Given the description of an element on the screen output the (x, y) to click on. 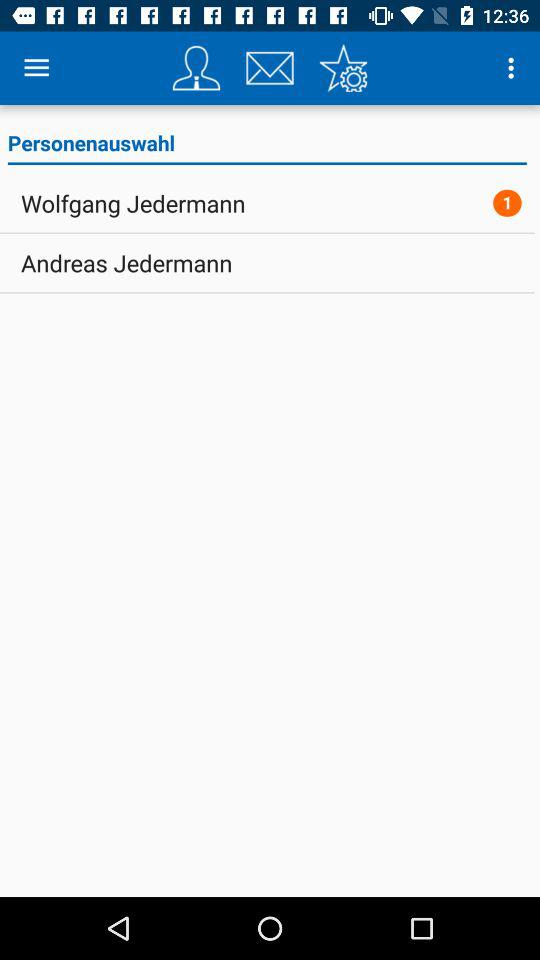
turn off andreas jedermann (126, 263)
